Given the description of an element on the screen output the (x, y) to click on. 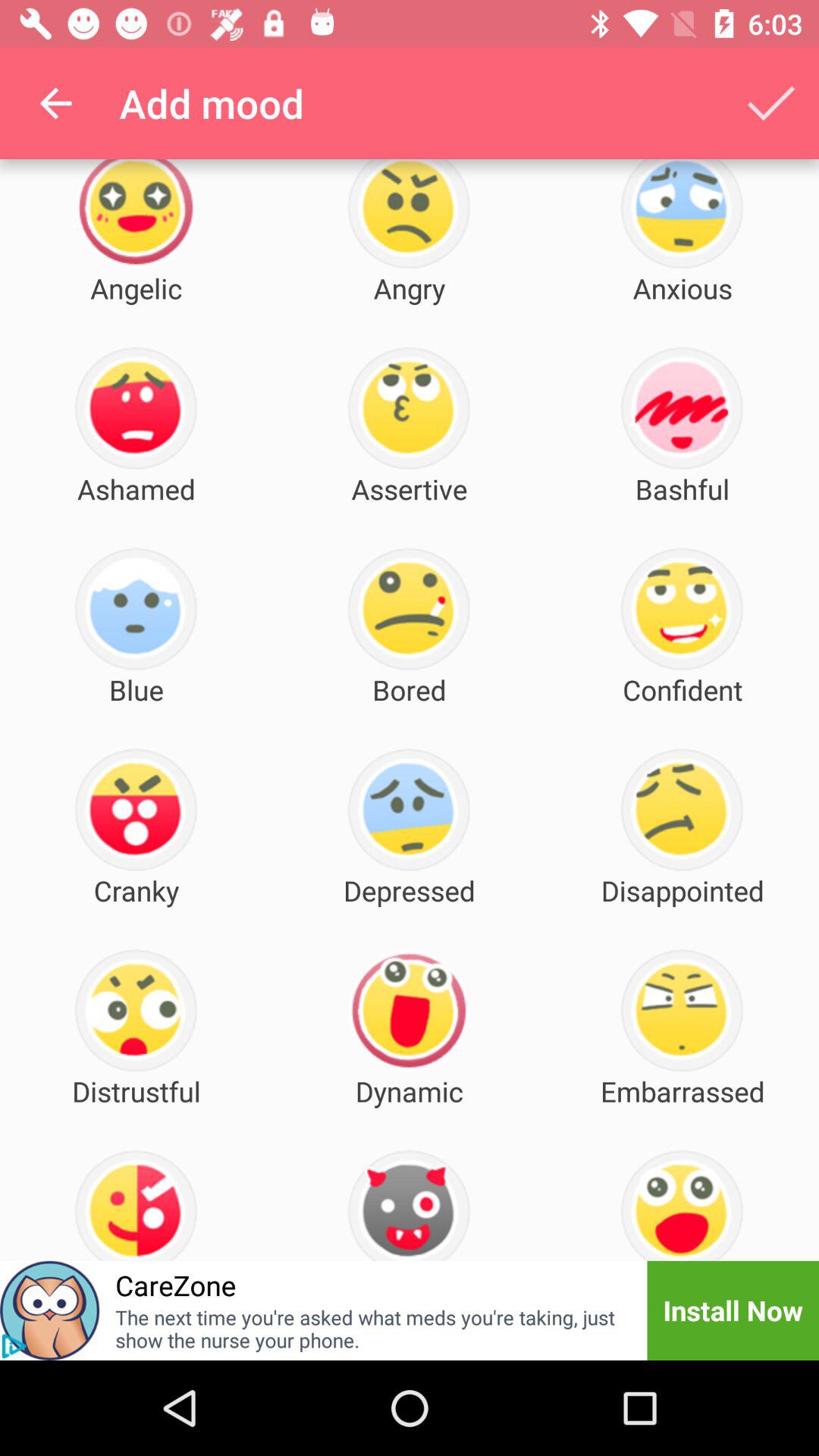
tap icon to the left of carezone (49, 1310)
